Given the description of an element on the screen output the (x, y) to click on. 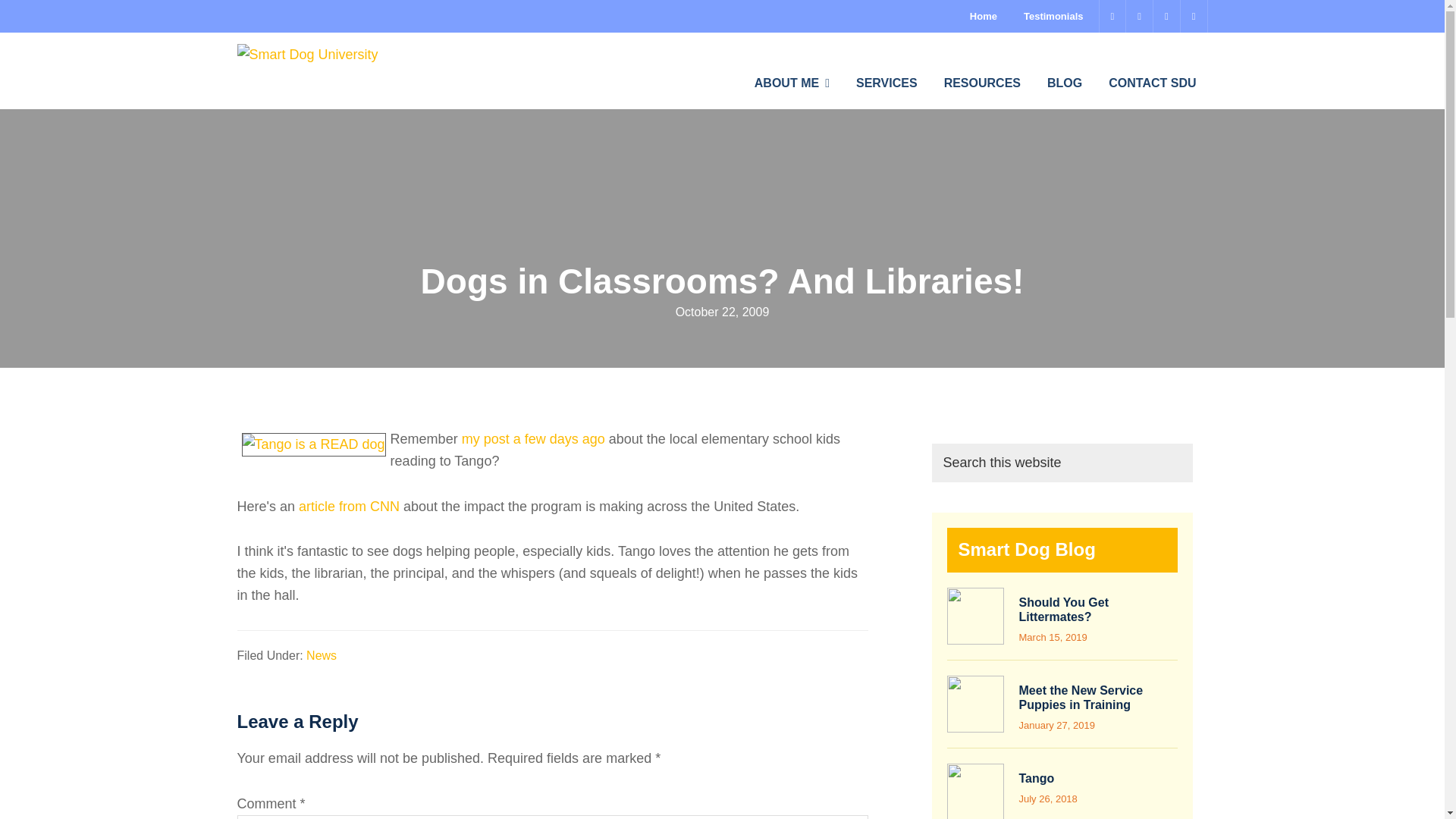
article from CNN (348, 506)
Testimonials (1052, 16)
CONTACT SDU (1152, 82)
ABOUT ME (791, 82)
SERVICES (886, 82)
BLOG (1064, 82)
RESOURCES (982, 82)
Should You Get Littermates? (1064, 609)
News (320, 655)
my post a few days ago (533, 438)
Home (983, 16)
Meet the New Service Puppies in Training (1080, 697)
